Given the description of an element on the screen output the (x, y) to click on. 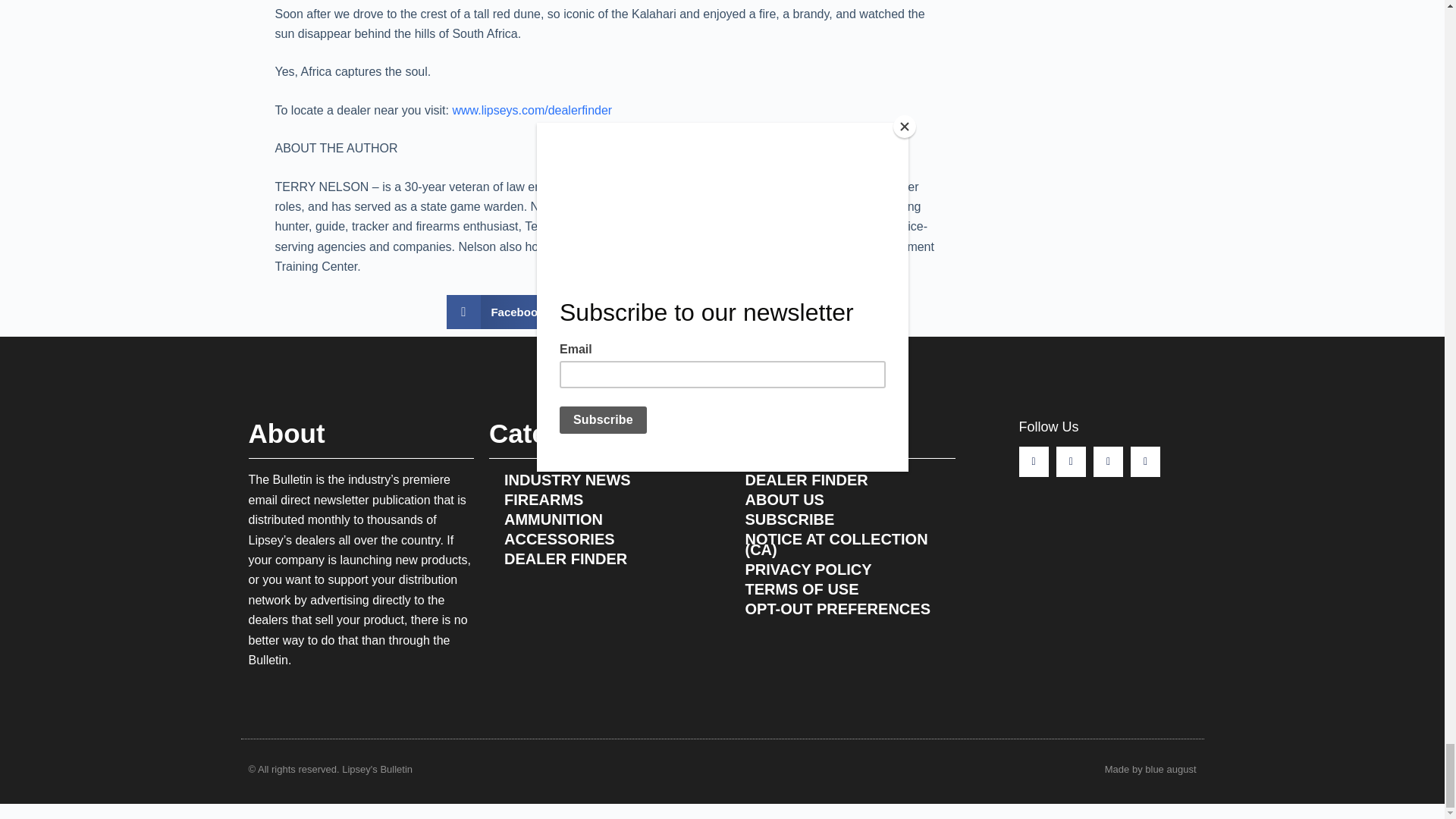
SUBSCRIBE (842, 519)
DEALER FINDER (601, 558)
DEALER FINDER (842, 479)
FIREARMS (601, 499)
AMMUNITION (601, 519)
INDUSTRY NEWS (601, 479)
TERMS OF USE (842, 588)
ABOUT US (842, 499)
PRIVACY POLICY (842, 569)
ACCESSORIES (601, 538)
